Given the description of an element on the screen output the (x, y) to click on. 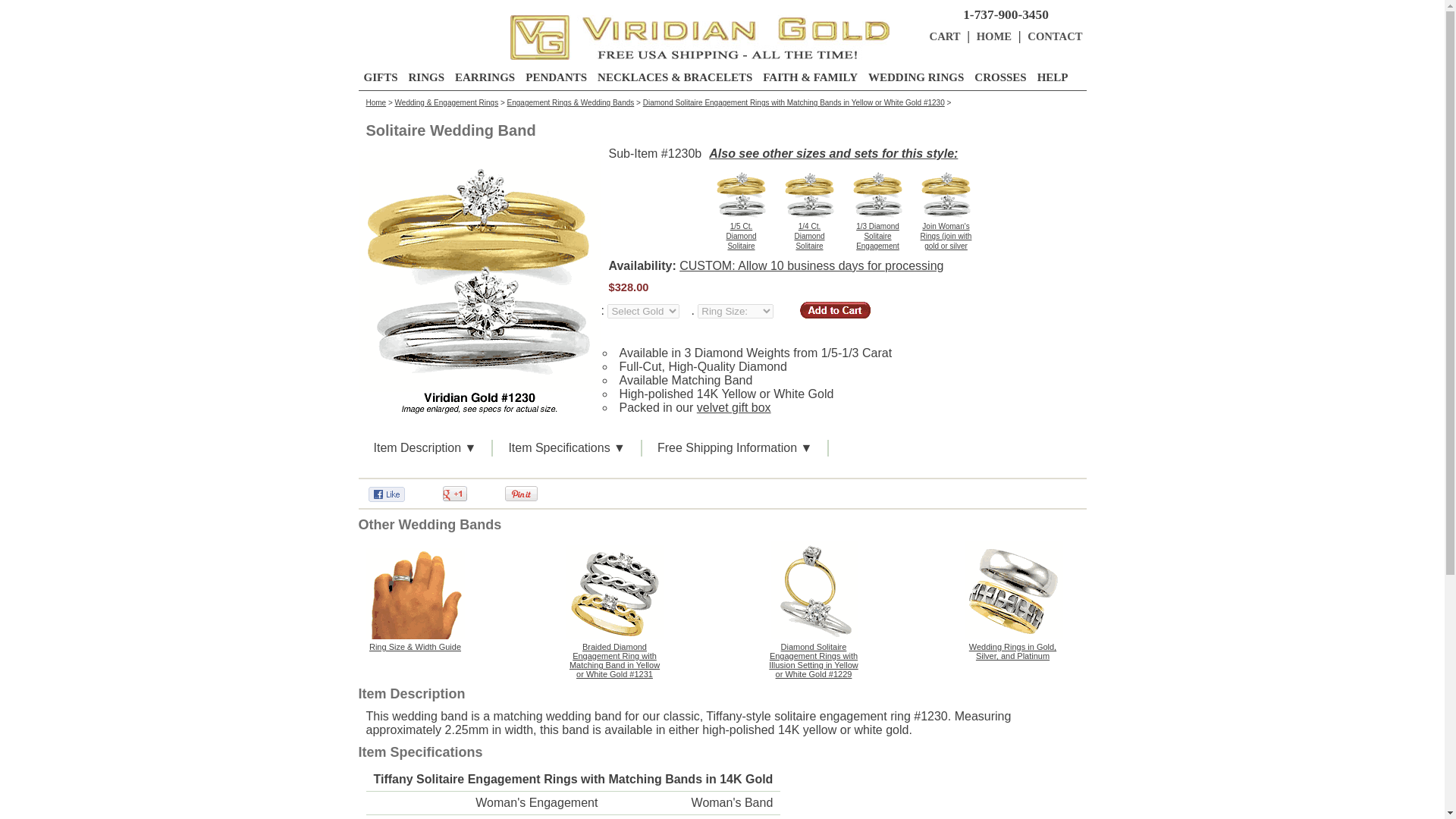
View Cart (993, 36)
CONTACT (1054, 36)
PENDANTS (555, 77)
1-737-900-3450 (1005, 14)
CART (945, 36)
Add to cart (834, 310)
The Viridian Gold Jewelry Store (698, 39)
HOME (993, 36)
EARRINGS (484, 77)
RINGS (427, 77)
show shopping cart (945, 36)
Contact us (1054, 36)
GIFTS (380, 77)
